Given the description of an element on the screen output the (x, y) to click on. 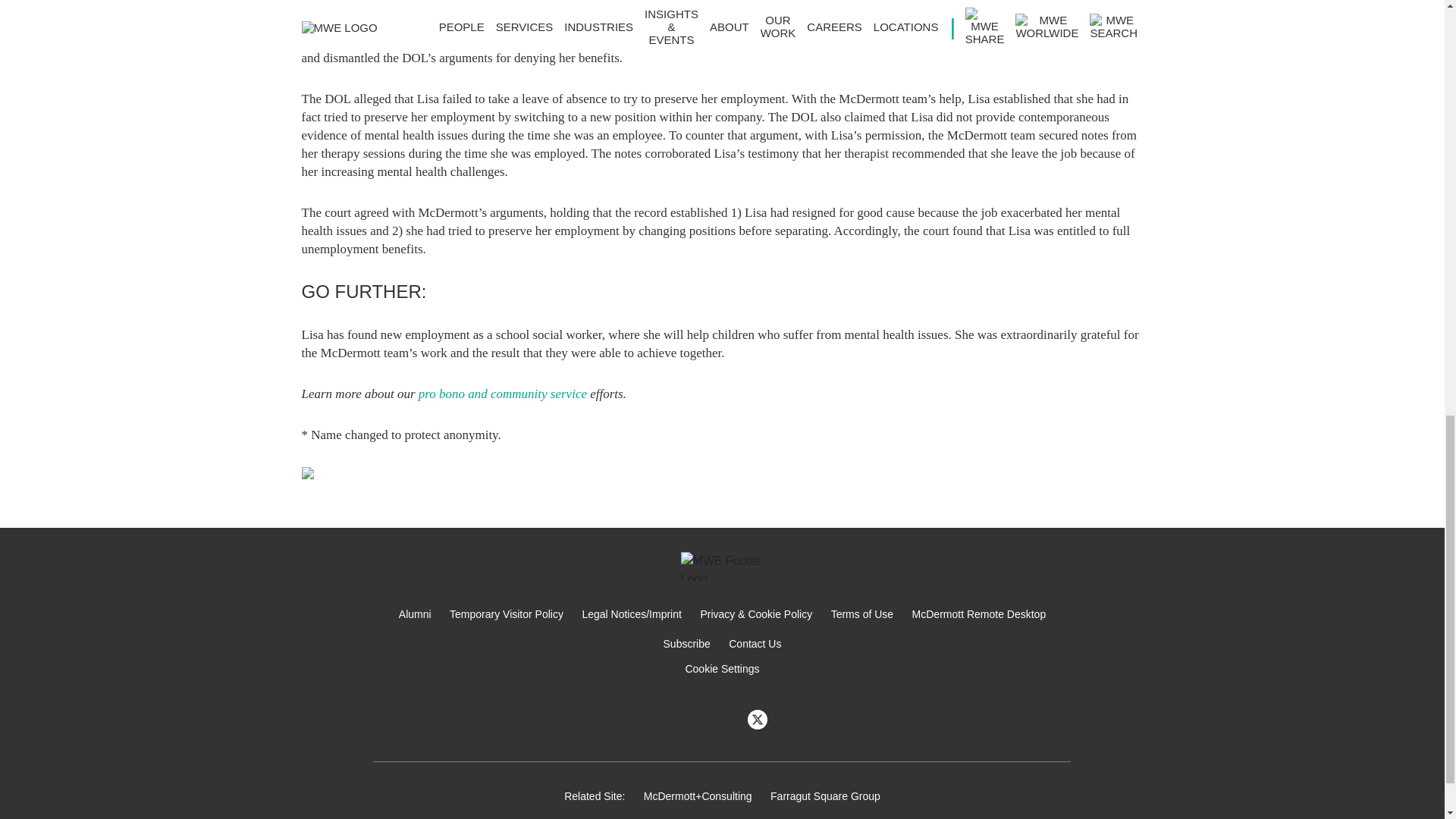
pro bono and community service (502, 393)
Alumni (414, 614)
